Given the description of an element on the screen output the (x, y) to click on. 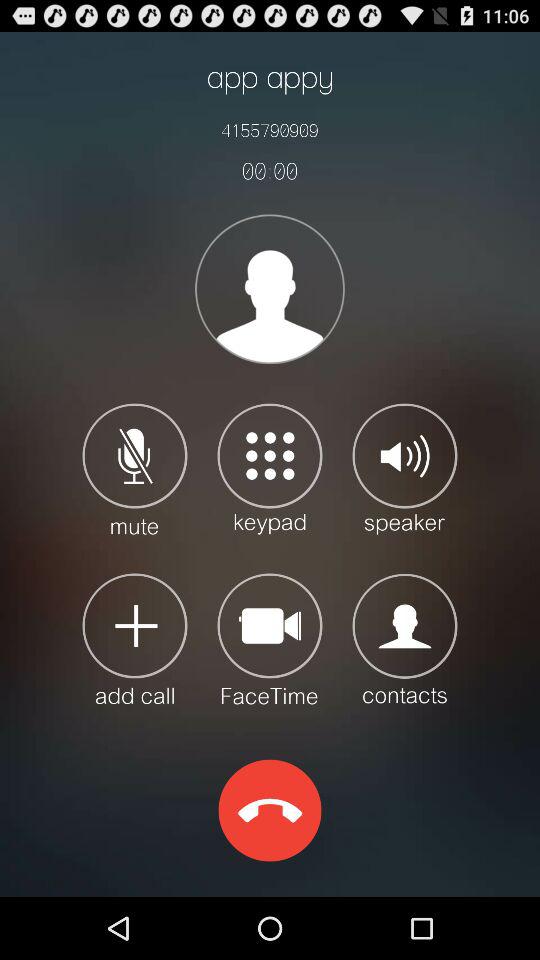
add participants for conference call (134, 638)
